Given the description of an element on the screen output the (x, y) to click on. 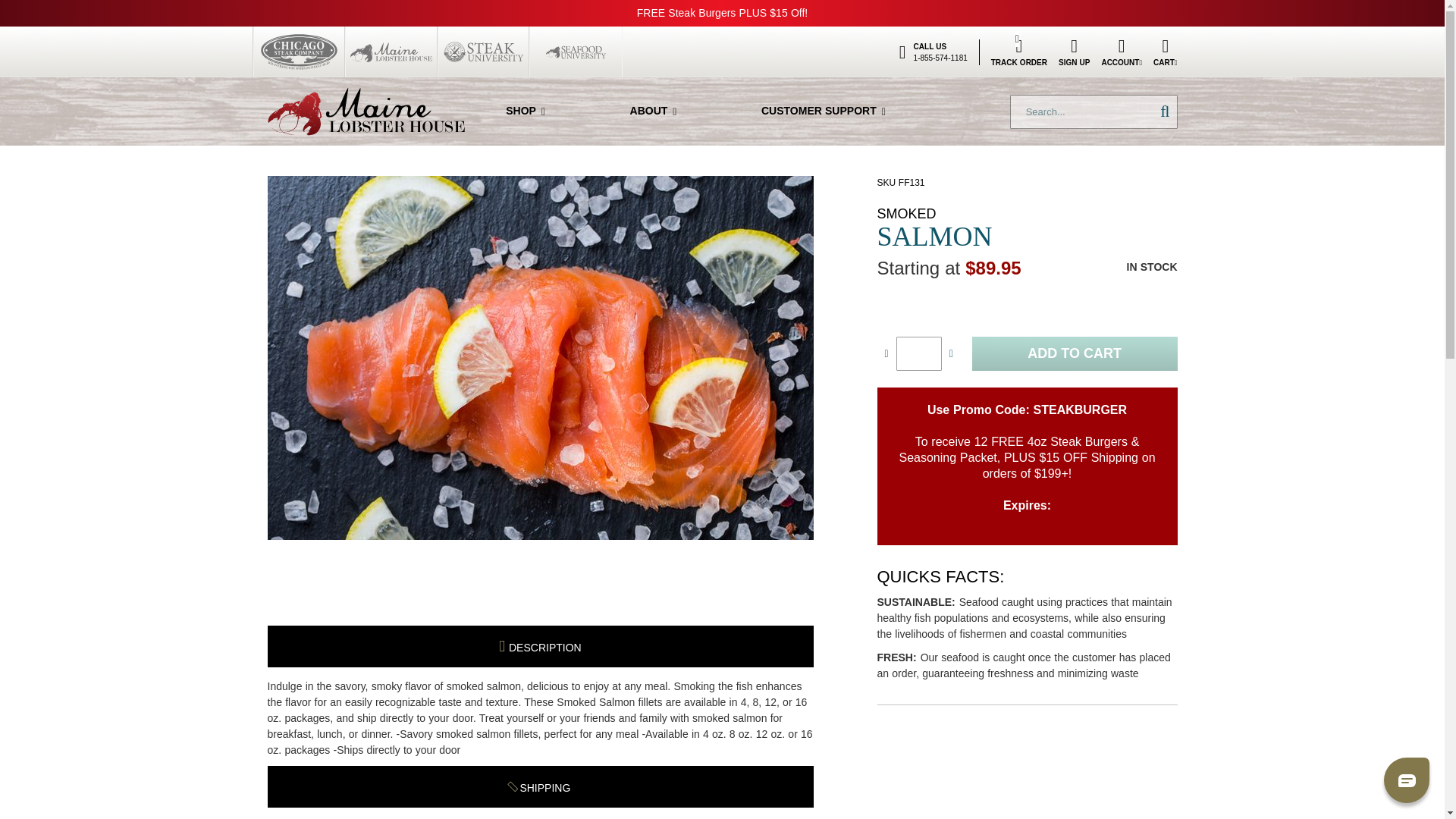
My Live Lobster (365, 111)
ACCOUNT (1120, 52)
track order (1018, 51)
SHOP (525, 110)
SHOP (525, 110)
SIGN UP (1073, 51)
TRACK ORDER (1018, 51)
